Given the description of an element on the screen output the (x, y) to click on. 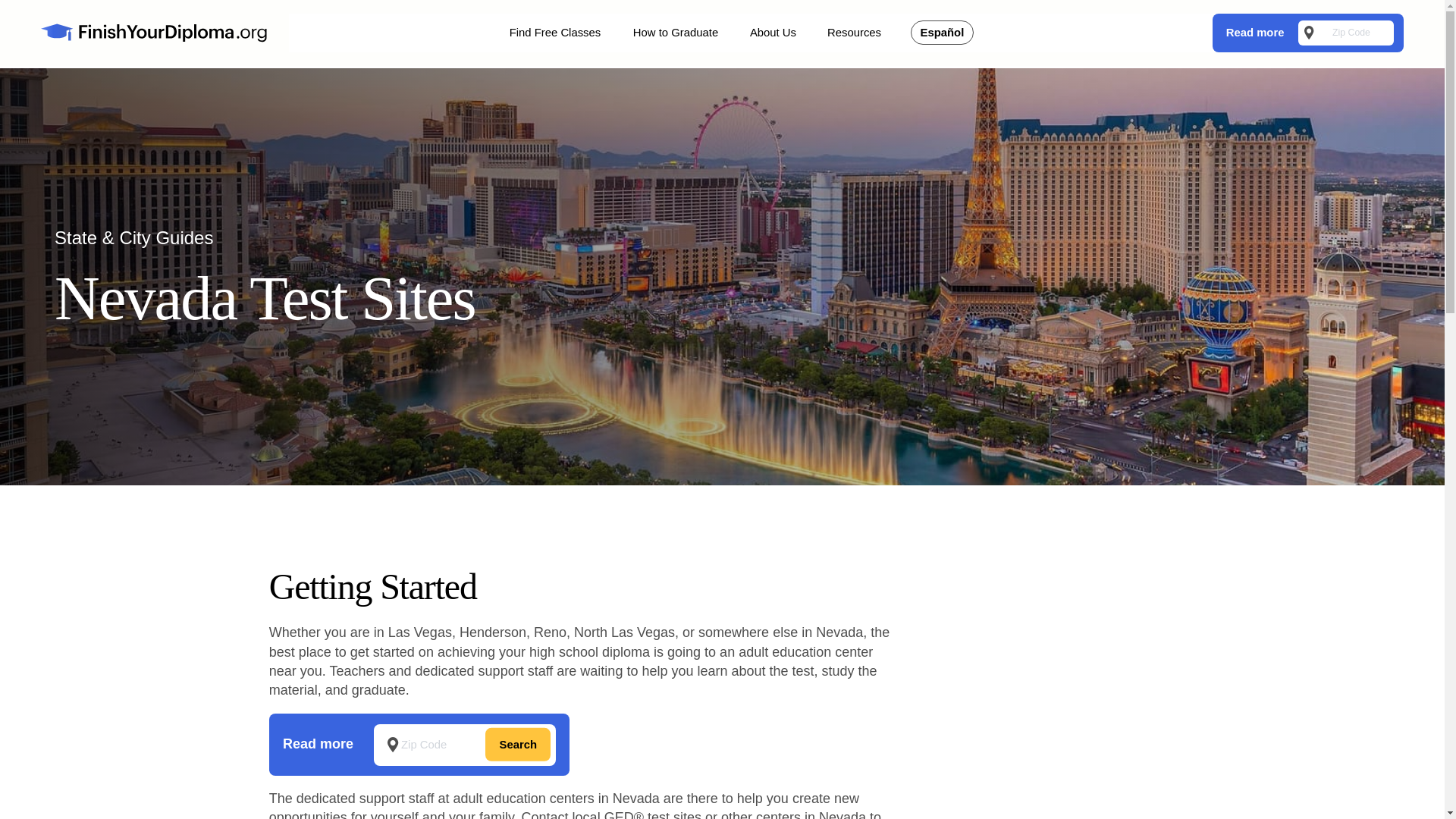
Search (517, 744)
How to Graduate (675, 32)
Search (517, 744)
About Us (772, 32)
Find Free Classes (554, 32)
Please enter a 5-digit numeric ZIP code. (1345, 32)
Resources (853, 32)
Please enter a 5-digit numeric ZIP code. (465, 744)
